Given the description of an element on the screen output the (x, y) to click on. 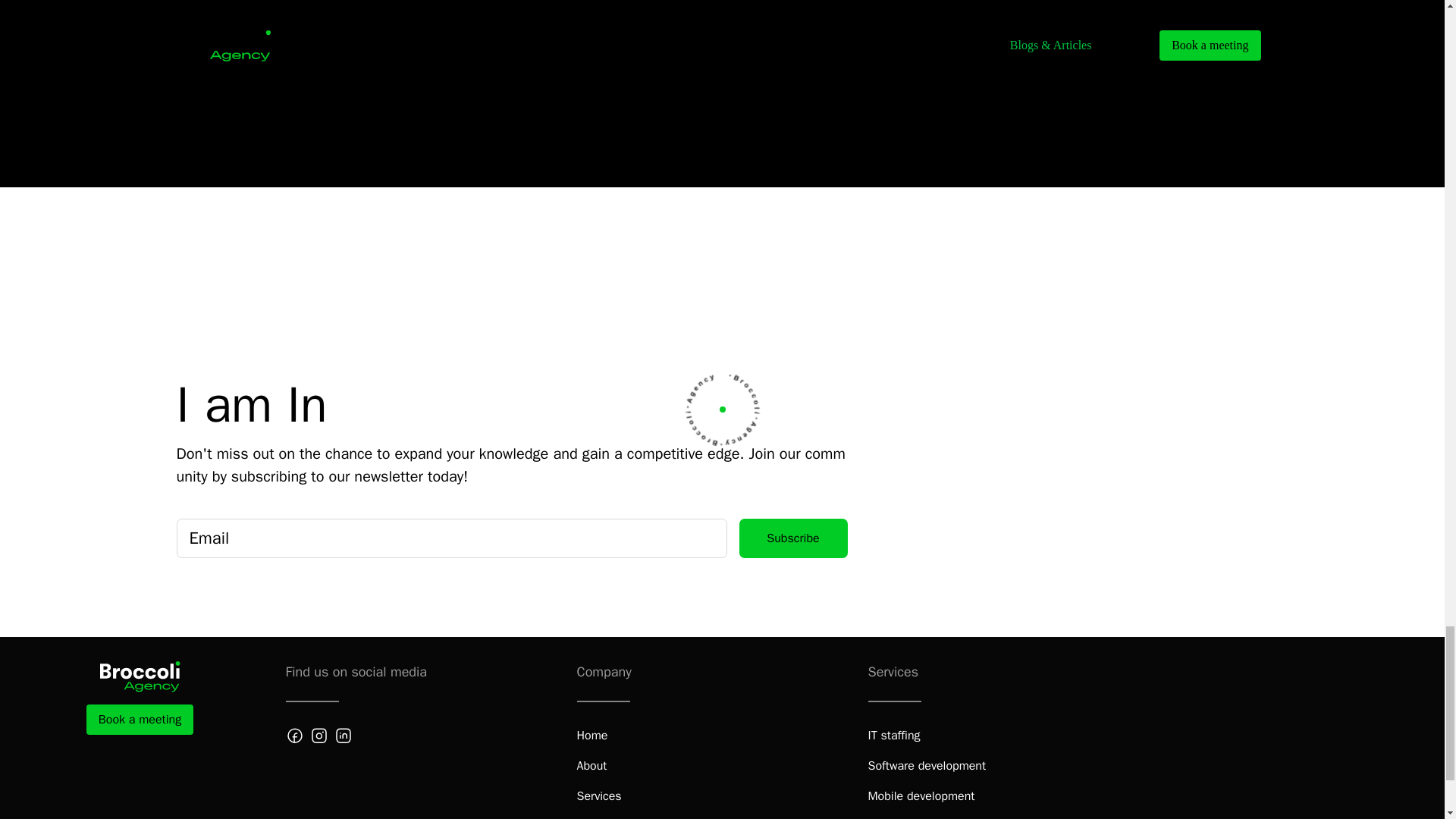
Subscribe (792, 537)
Home (591, 735)
Services (598, 796)
Mobile development (920, 796)
About (591, 765)
IT consultancy (904, 818)
Book a meeting (139, 719)
IT staffing (893, 735)
Software development (926, 765)
Our Work (600, 818)
